Given the description of an element on the screen output the (x, y) to click on. 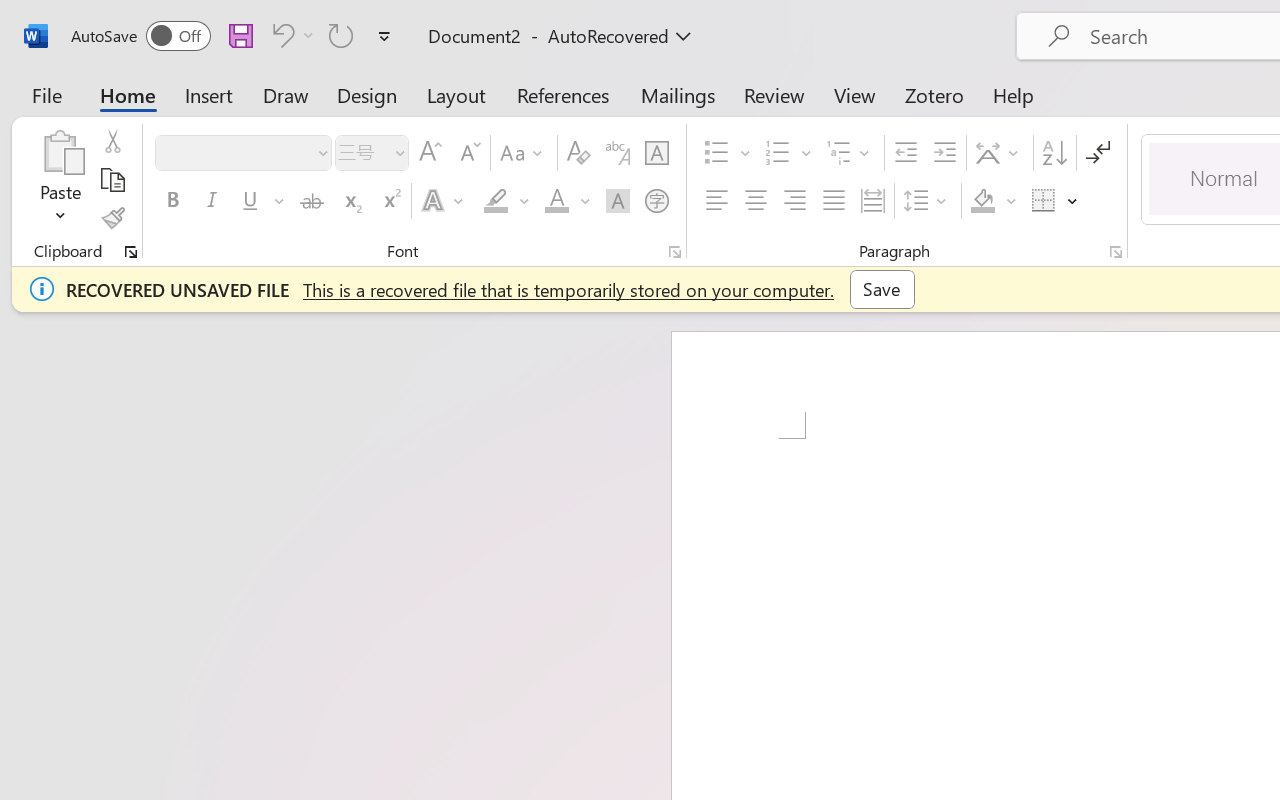
Center (756, 201)
Clear Formatting (578, 153)
Align Right (794, 201)
Character Shading (618, 201)
Align Left (716, 201)
Paragraph... (1115, 252)
Grow Font (430, 153)
Font Color (567, 201)
